Given the description of an element on the screen output the (x, y) to click on. 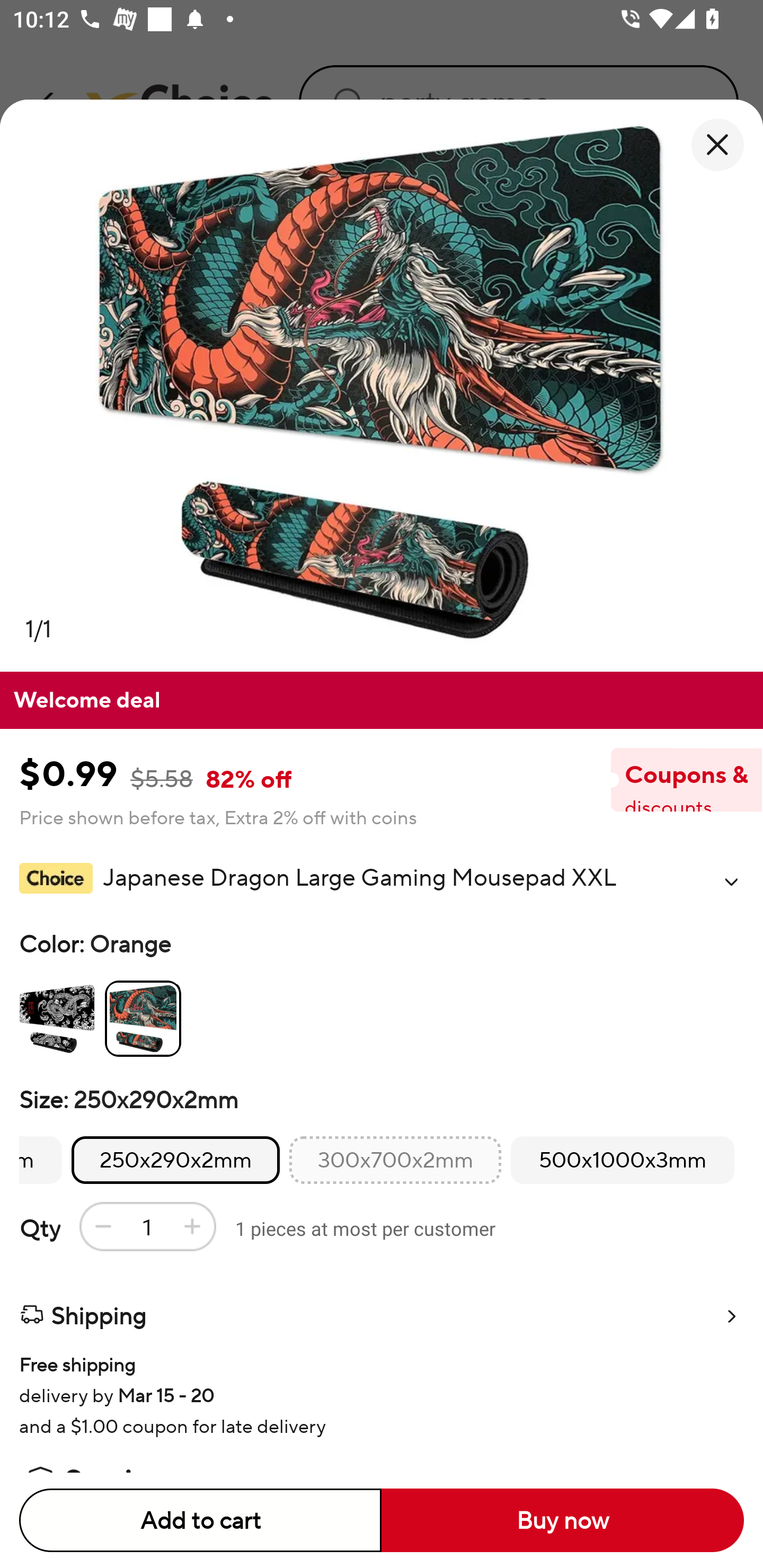
close  (717, 144)
 (730, 881)
250x290x2mm (175, 1159)
300x700x2mm (395, 1159)
500x1000x3mm (622, 1159)
Add to cart (200, 1520)
Buy now (562, 1520)
